Given the description of an element on the screen output the (x, y) to click on. 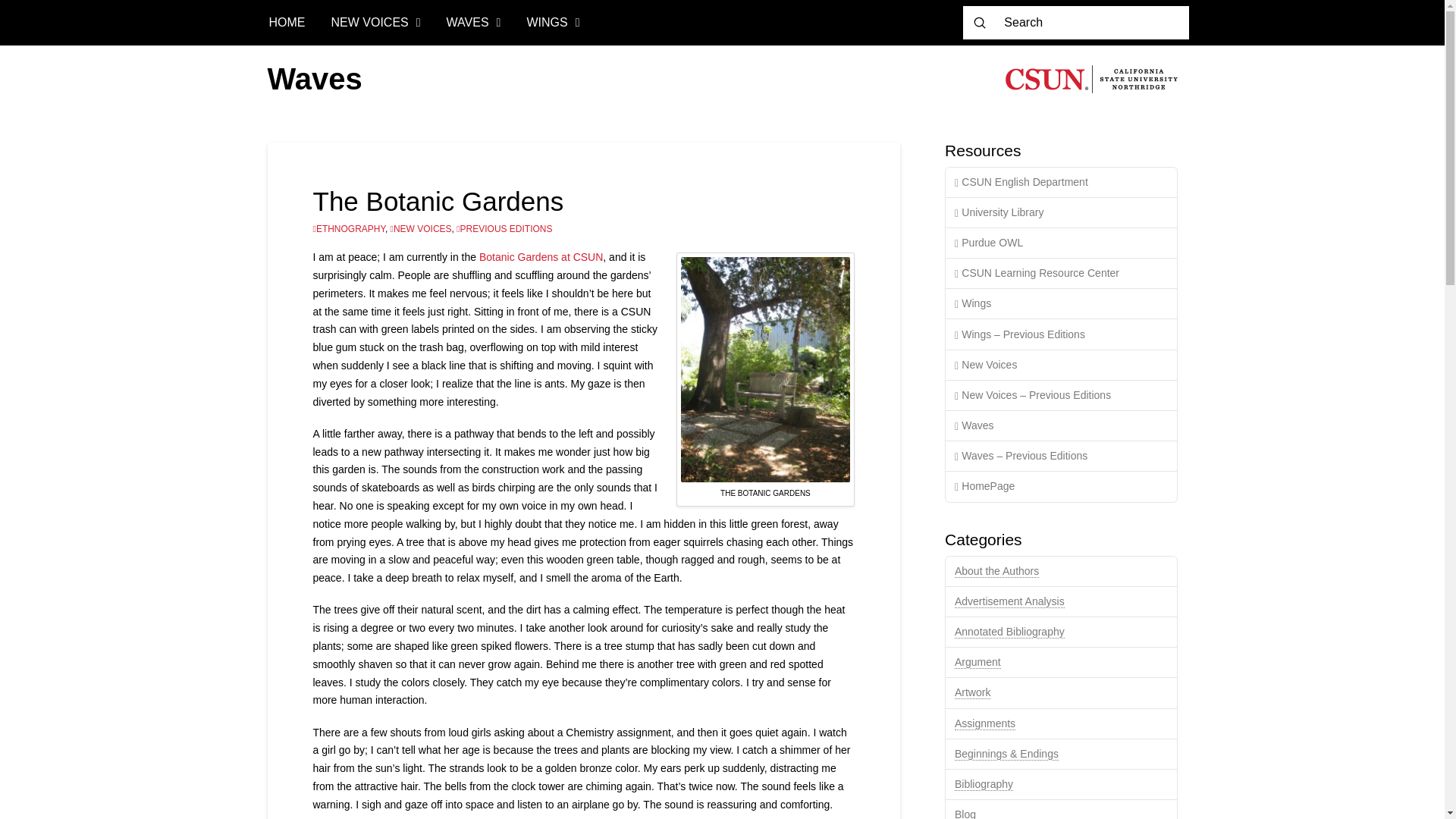
New Voices (1060, 365)
ETHNOGRAPHY (348, 228)
Submit (979, 22)
Assignments (984, 723)
University Library (1060, 213)
CSUN Learning Resource Center (1060, 273)
NEW VOICES (375, 22)
Argument (978, 662)
PREVIOUS EDITIONS (504, 228)
Artwork (972, 692)
